Given the description of an element on the screen output the (x, y) to click on. 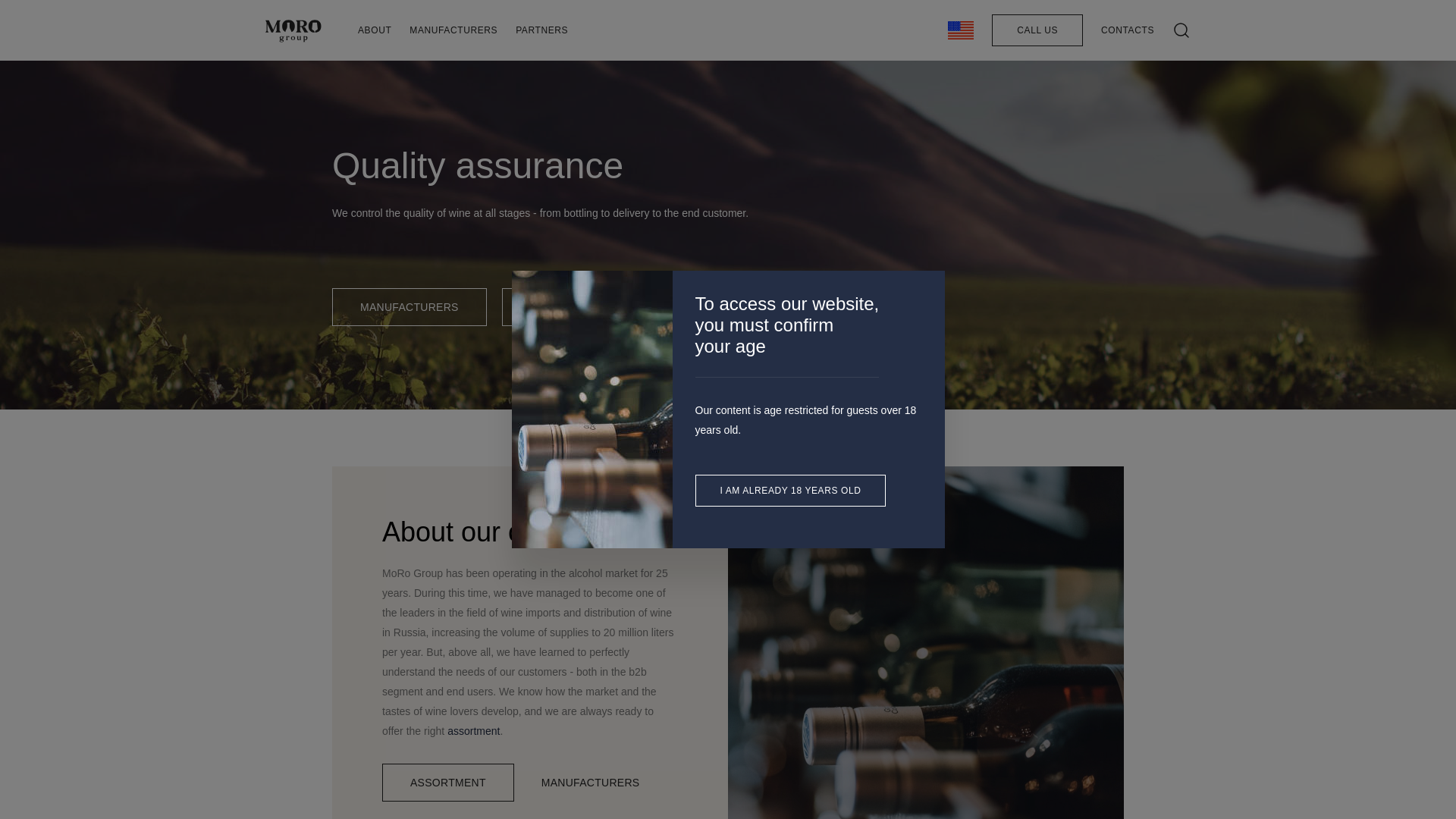
CONTACTS (1127, 30)
MANUFACTURERS (590, 782)
MANUFACTURERS (453, 30)
MANUFACTURERS (408, 306)
PARTNERS (541, 30)
ASSORTMENT (567, 306)
ASSORTMENT (447, 782)
assortment (472, 730)
Search (1000, 91)
ABOUT (374, 30)
